Given the description of an element on the screen output the (x, y) to click on. 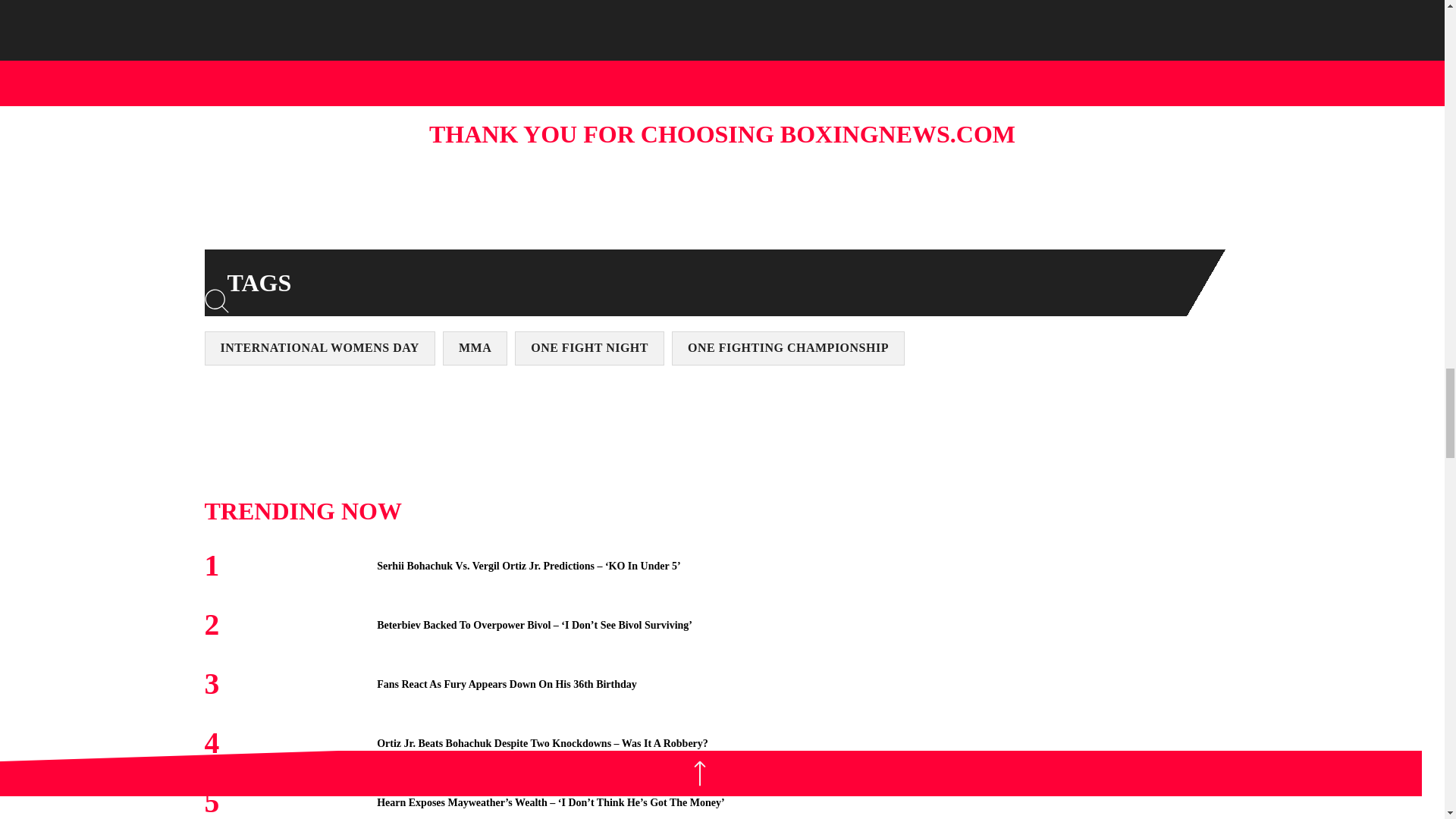
Fans React As Fury Appears Down On His 36th Birthday (507, 684)
ONE FIGHTING CHAMPIONSHIP (787, 348)
MMA (474, 348)
INTERNATIONAL WOMENS DAY (320, 348)
BoxingNews.com (597, 15)
ONE FIGHT NIGHT (589, 348)
